Given the description of an element on the screen output the (x, y) to click on. 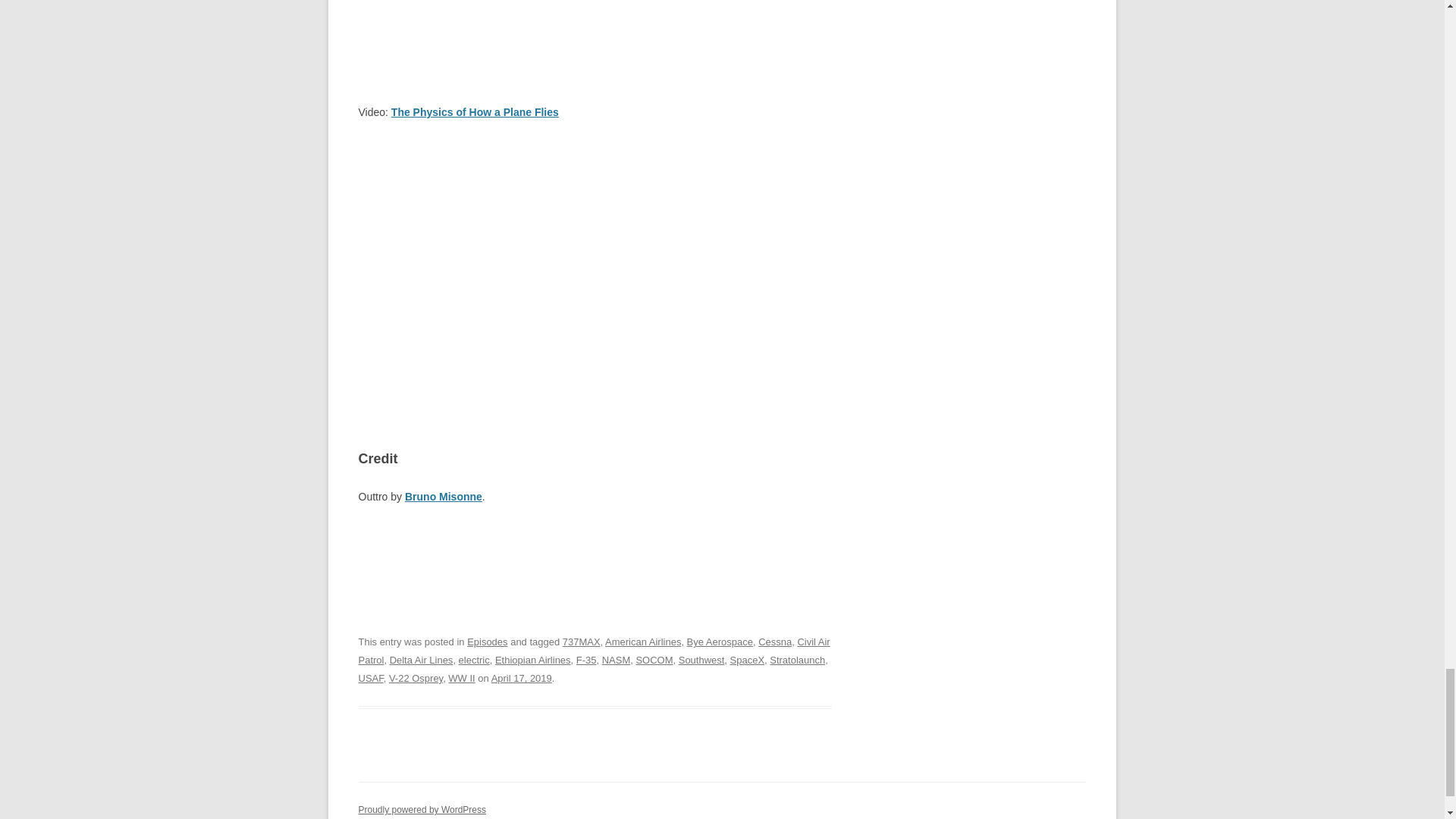
Breakthrough Junior Challenge Video- Camille Baron (594, 272)
Semantic Personal Publishing Platform (422, 809)
9:31 am (521, 677)
RAF Hunter Pilot Goes Rogue over London 1968 (594, 30)
